Given the description of an element on the screen output the (x, y) to click on. 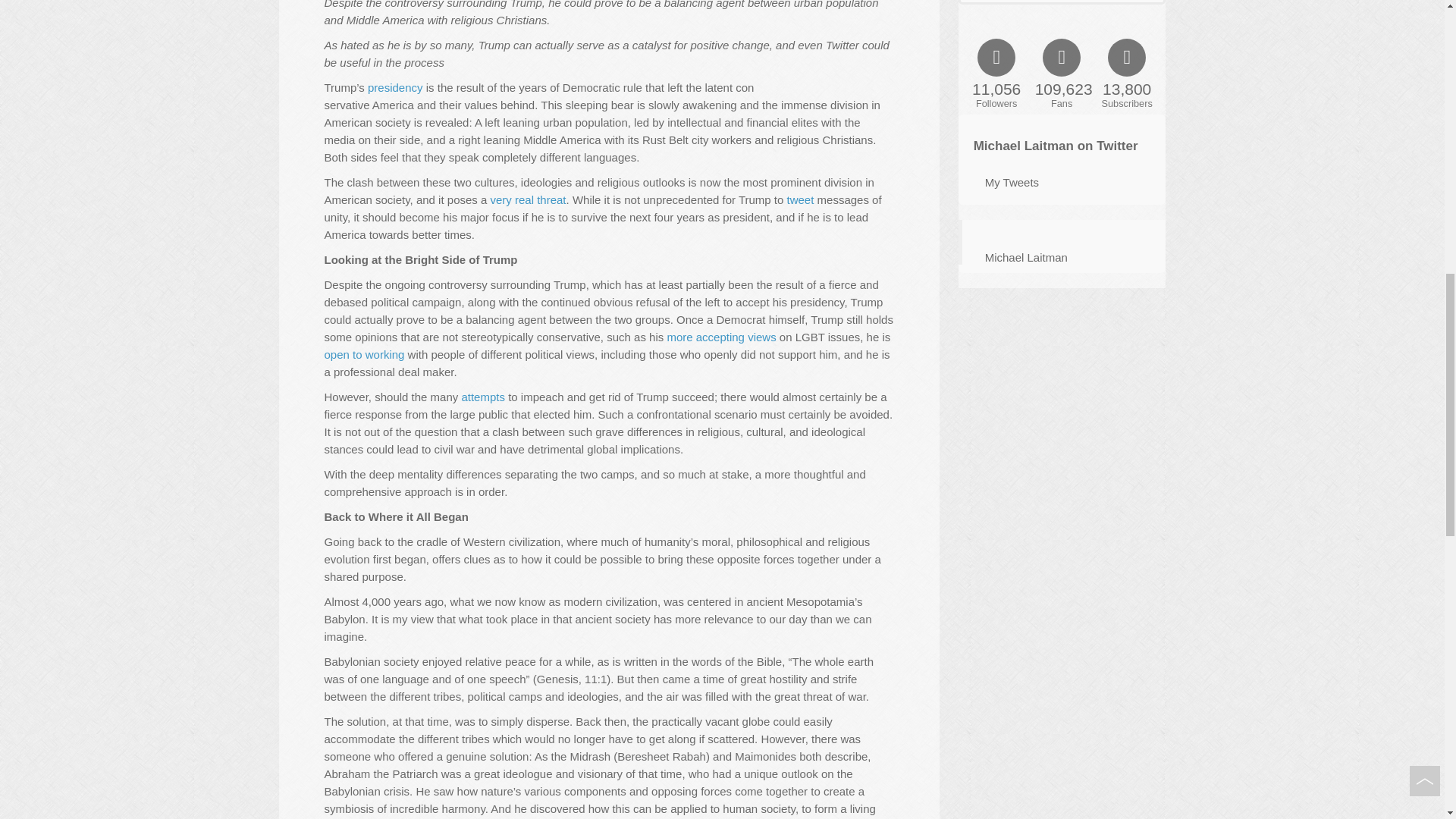
attempts (483, 396)
open to working (364, 354)
more accepting views (721, 336)
tweet (800, 199)
presidency (394, 87)
very real threat (527, 199)
